Given the description of an element on the screen output the (x, y) to click on. 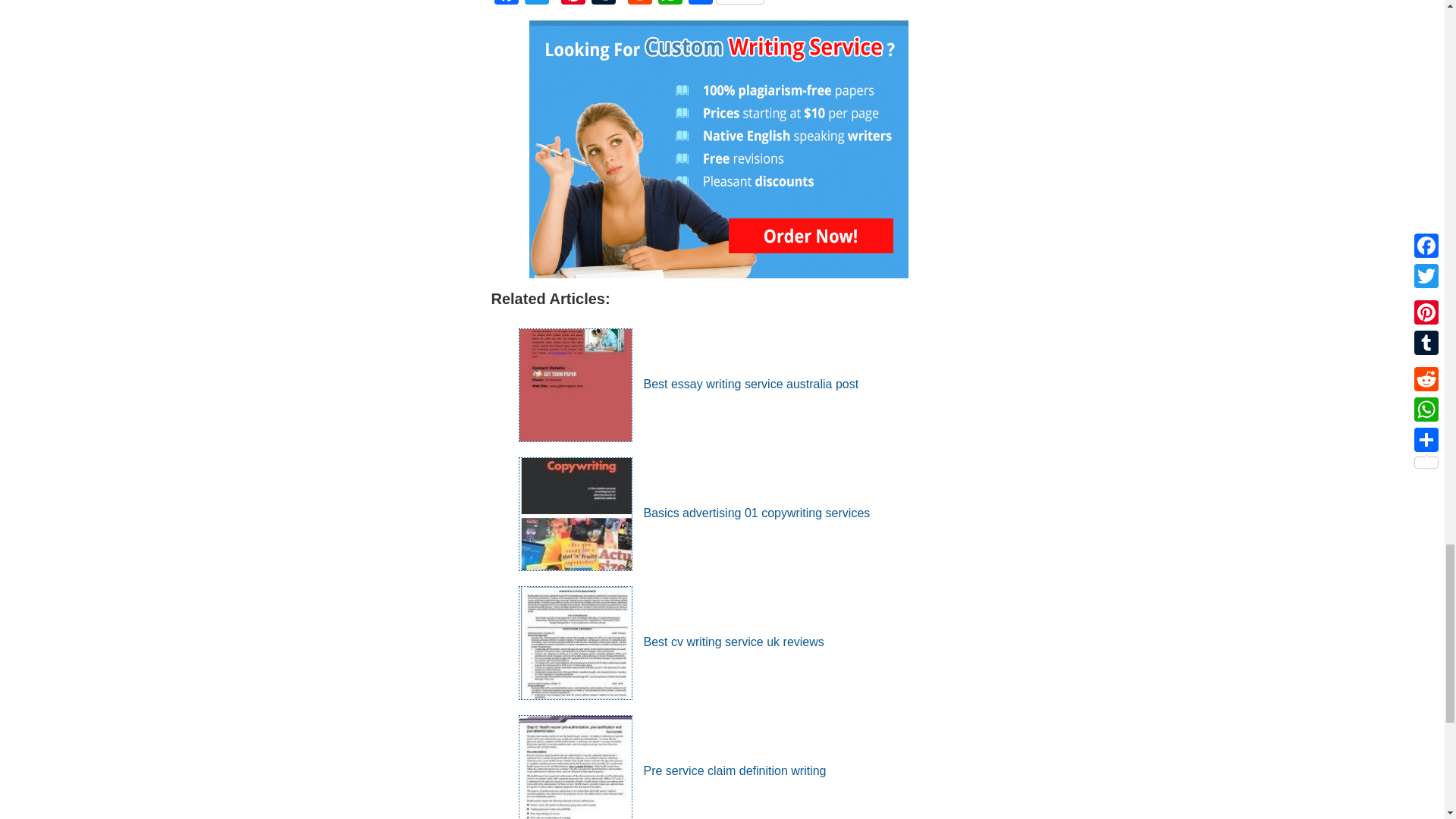
Reddit (639, 4)
Tumblr (603, 4)
Best cv writing service uk reviews (671, 641)
Best essay writing service australia post (688, 383)
Facebook (506, 4)
Pre service claim definition writing (672, 770)
Basics advertising 01 copywriting services (694, 512)
Twitter (536, 4)
Pinterest (572, 4)
WhatsApp (670, 4)
